Given the description of an element on the screen output the (x, y) to click on. 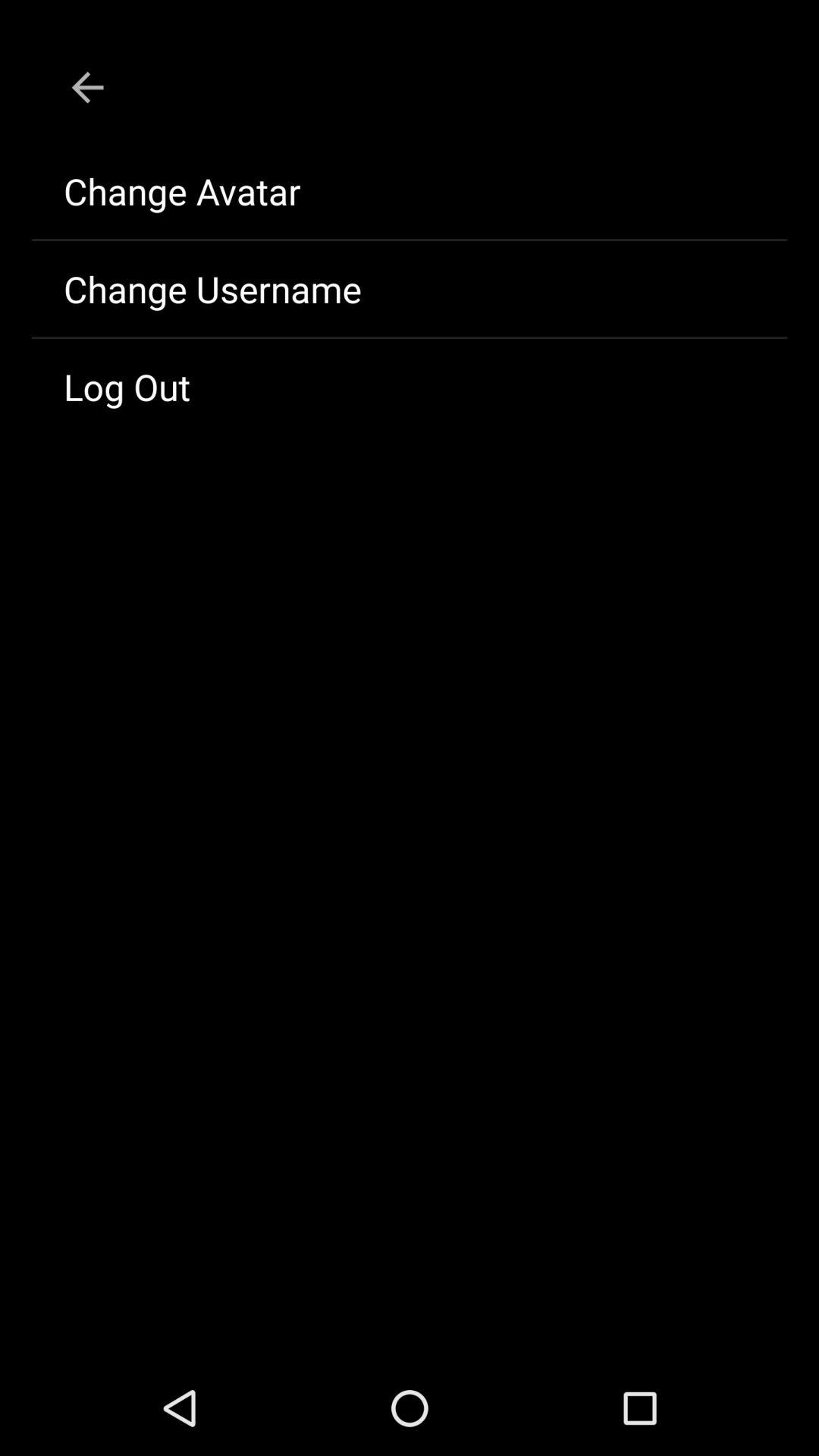
choose the icon below change username item (409, 386)
